Given the description of an element on the screen output the (x, y) to click on. 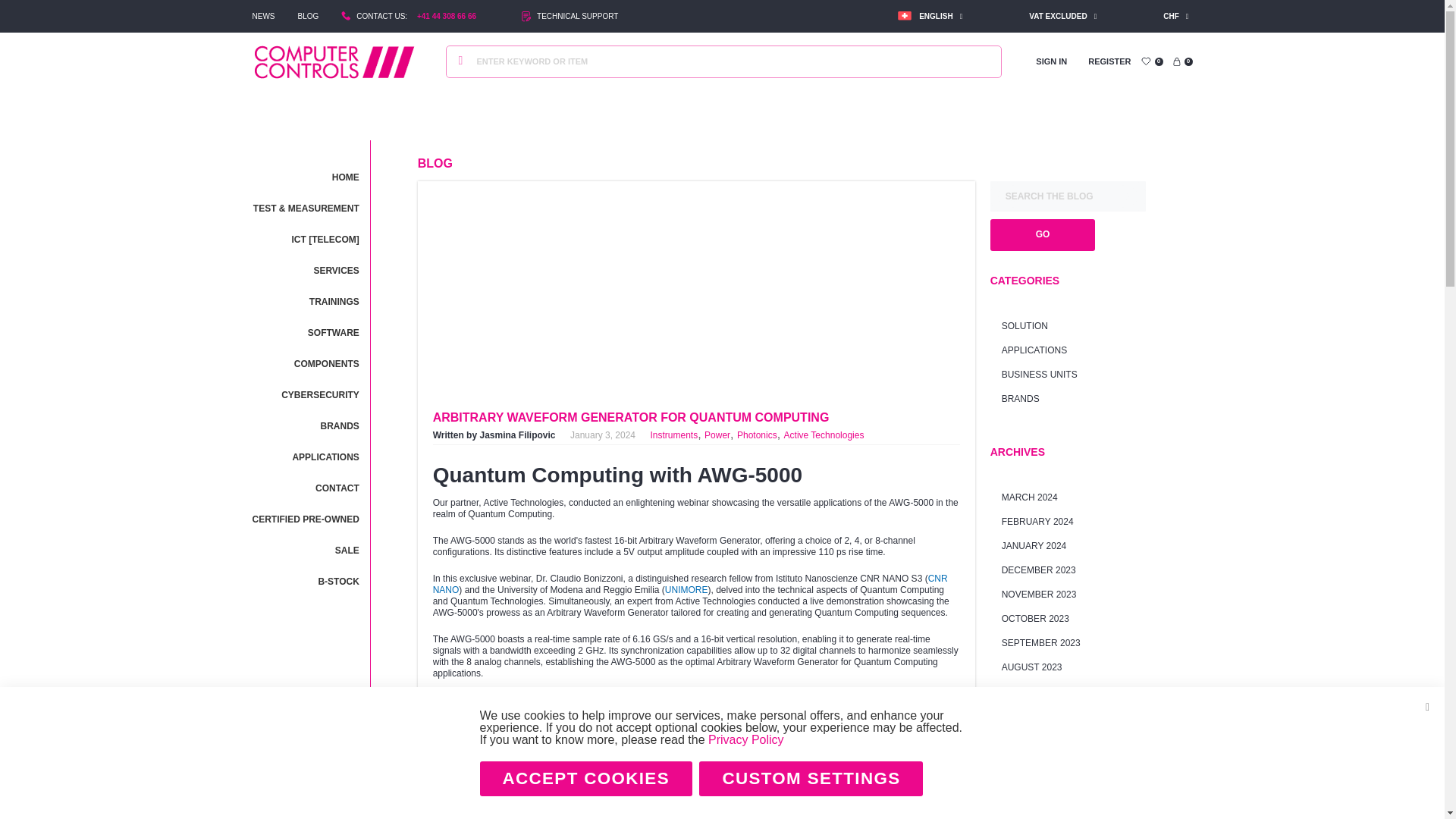
Jasmina Filipovic (516, 434)
REGISTER (1109, 61)
0 (1150, 61)
TECHNICAL SUPPORT (577, 16)
BLOG (307, 16)
SIGN IN (1051, 61)
0 (1182, 61)
Go (460, 61)
HOME (304, 176)
NEWS (263, 16)
